Given the description of an element on the screen output the (x, y) to click on. 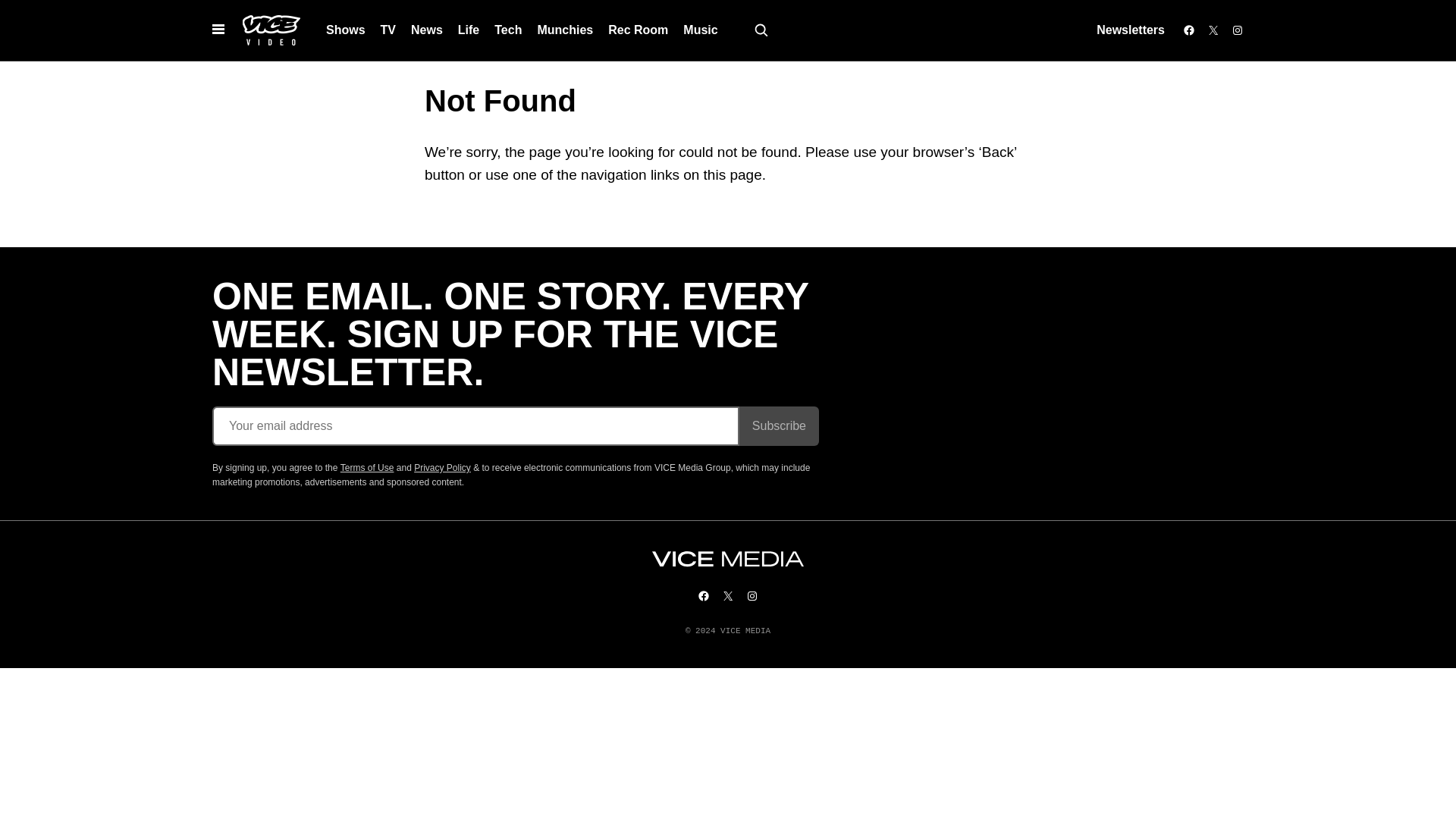
Newsletters (1130, 29)
Rec Room (637, 29)
Facebook (1188, 30)
Life (467, 29)
Privacy Policy (441, 467)
TV (387, 29)
Instagram (1237, 30)
Tech (507, 29)
VICE MEDIA (727, 559)
Newsletter Signup Form (515, 425)
